Given the description of an element on the screen output the (x, y) to click on. 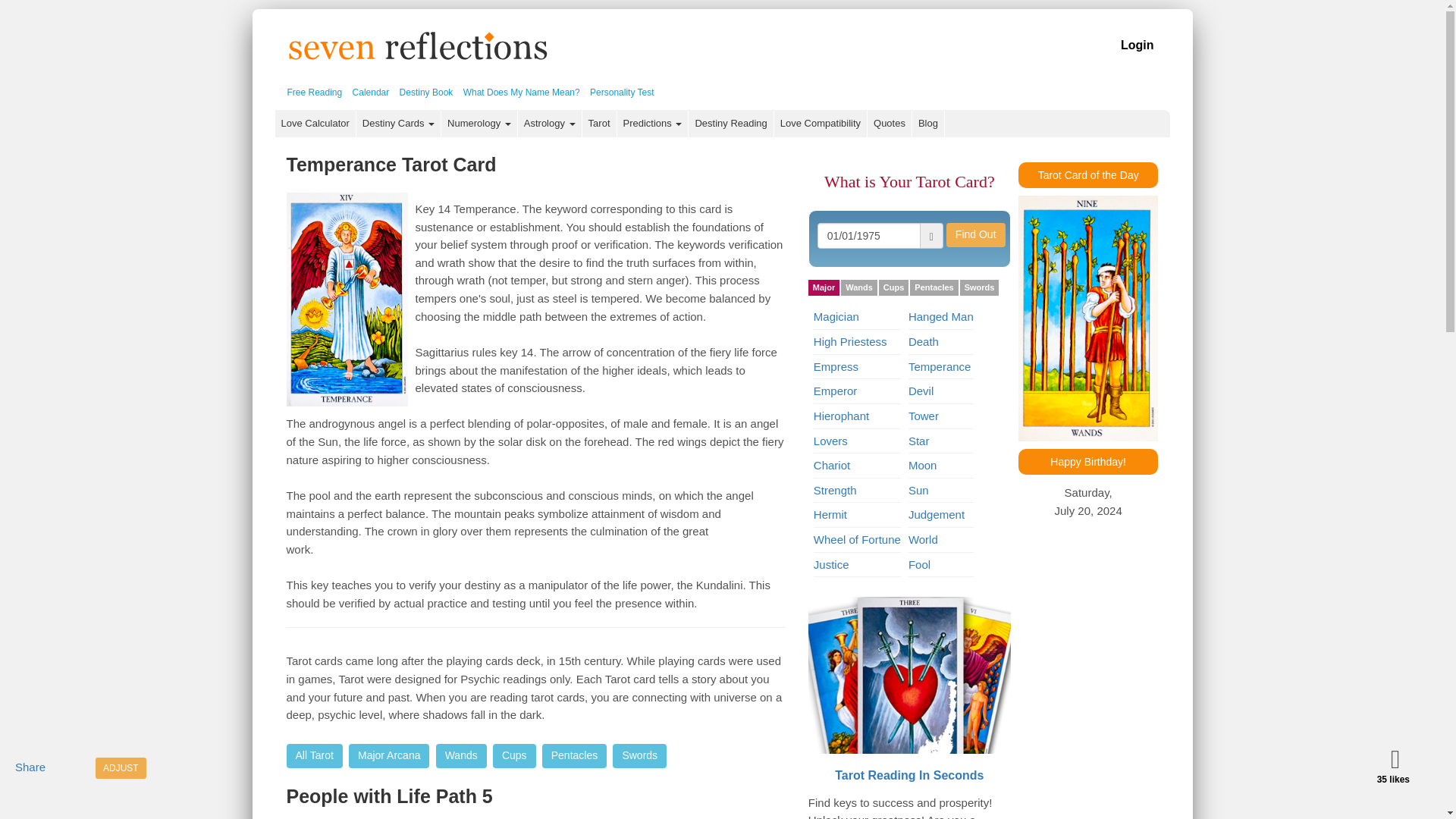
Calendar (371, 91)
Quotes (889, 123)
Predictions (652, 123)
Calendar (371, 91)
Destiny Book (425, 91)
Tarot (599, 123)
Love Compatibility (820, 123)
Love Calculator (315, 123)
Tarot Reading In Seconds (909, 674)
Free Reading (314, 91)
Destiny Cards (398, 123)
Personality Test (621, 91)
Login (1137, 44)
Destiny Book (425, 91)
Numerology (479, 123)
